Given the description of an element on the screen output the (x, y) to click on. 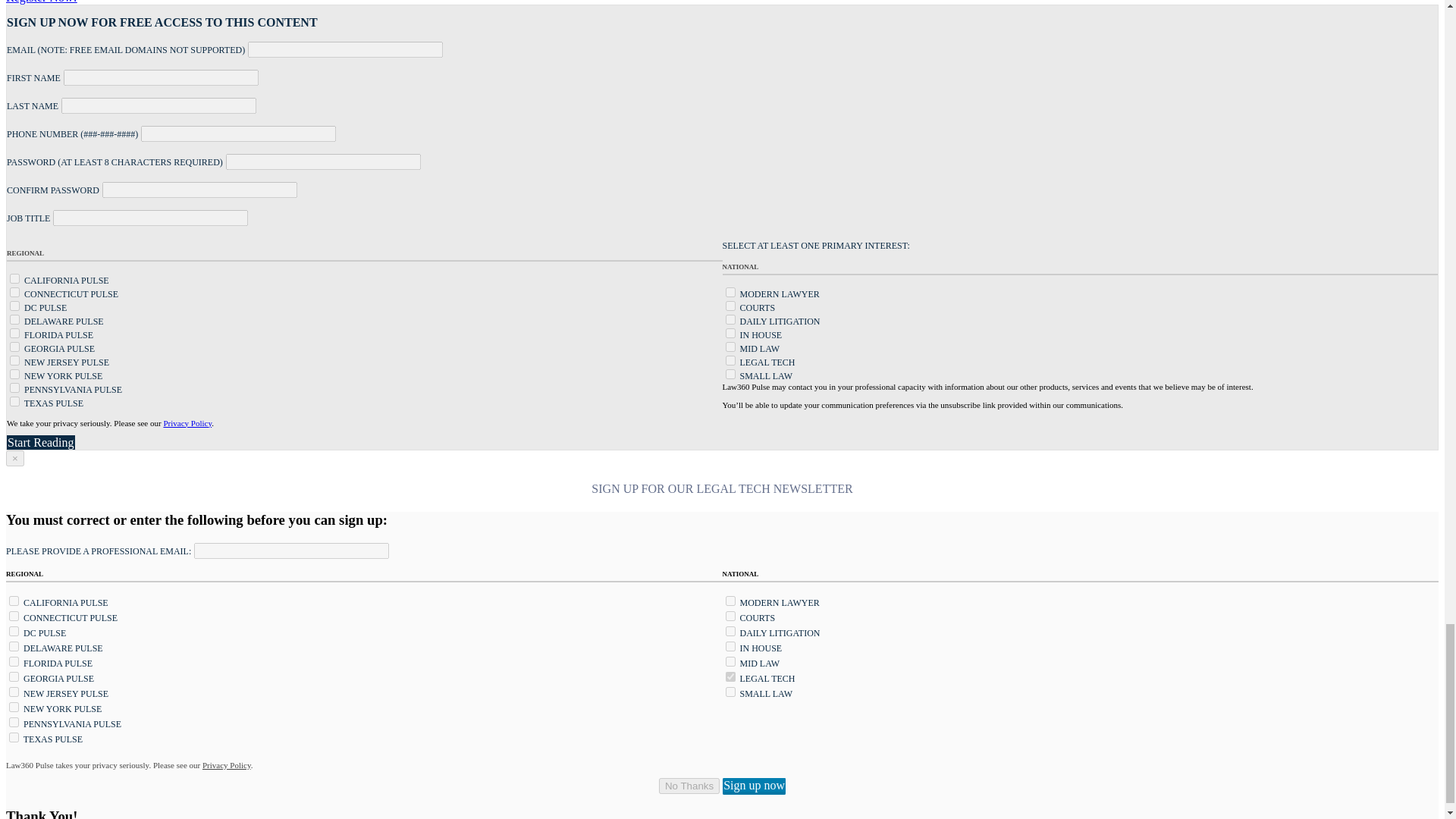
connecticut-pulse (15, 292)
dc-pulse (15, 306)
new-york-pulse (15, 374)
new-jersey-pulse (15, 360)
pennsylvania-pulse (15, 388)
georgia-pulse (15, 347)
modern-lawyer (730, 292)
california-pulse (15, 278)
delaware-pulse (15, 319)
florida-pulse (15, 333)
texas-pulse (15, 401)
